Given the description of an element on the screen output the (x, y) to click on. 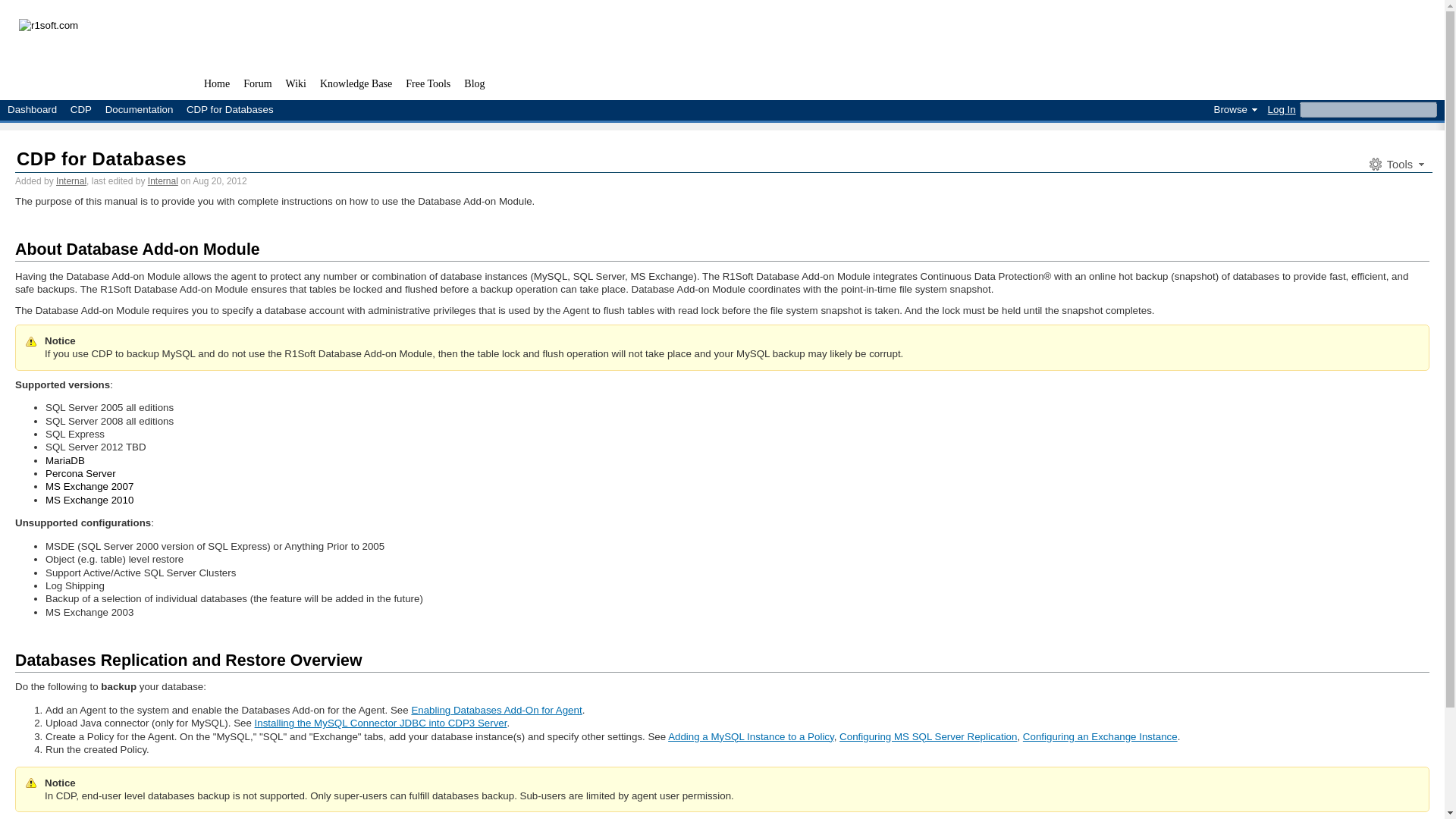
Wiki (296, 86)
Search this space (46, 7)
Tools (1395, 164)
Log In (1278, 109)
Internal (162, 181)
CDP for Databases (101, 158)
Home (215, 86)
Blog (474, 86)
Knowledge Base (355, 86)
Internal (70, 181)
